Given the description of an element on the screen output the (x, y) to click on. 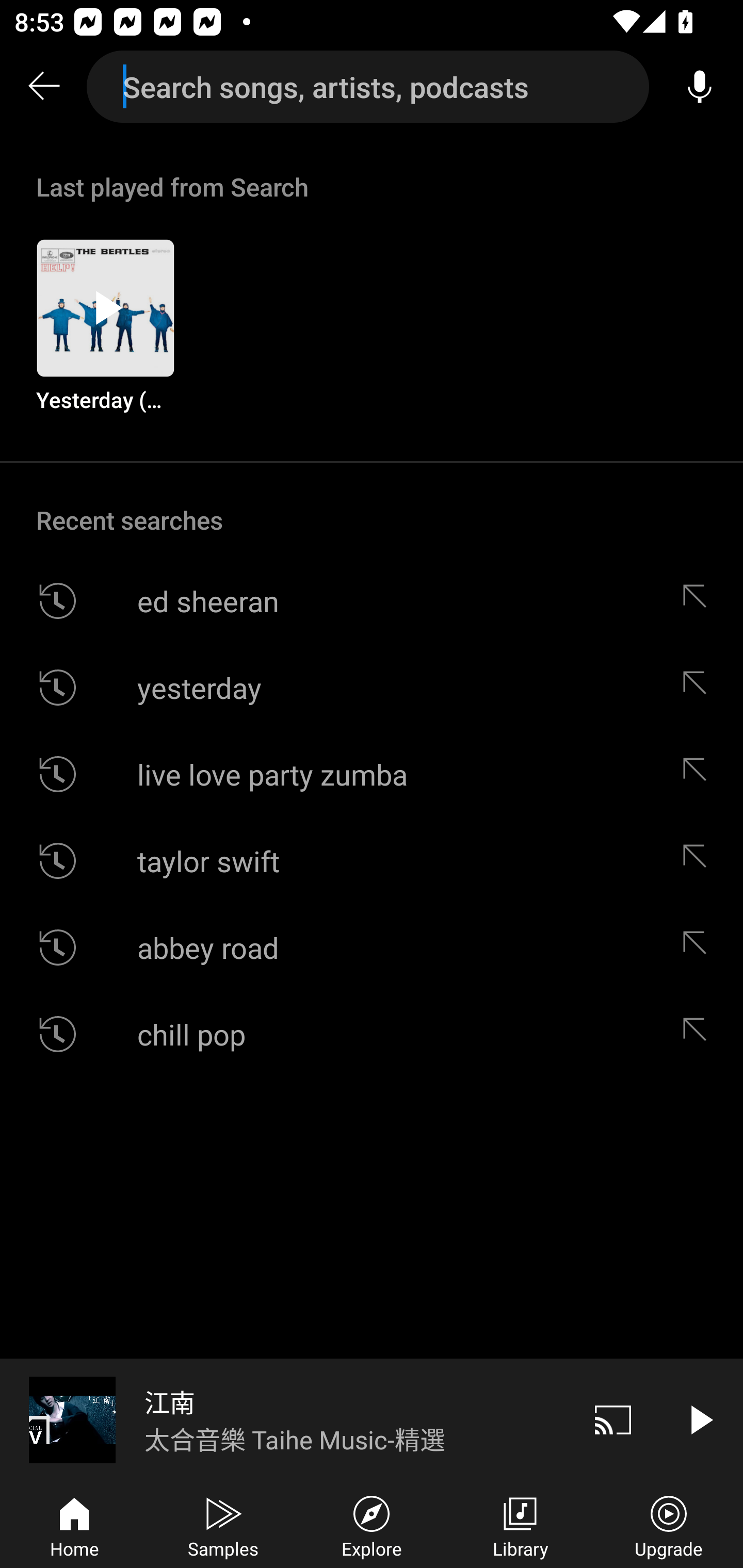
Search back (43, 86)
Search songs, artists, podcasts (367, 86)
Voice search (699, 86)
ed sheeran Edit suggestion ed sheeran (371, 601)
Edit suggestion ed sheeran (699, 601)
yesterday Edit suggestion yesterday (371, 687)
Edit suggestion yesterday (699, 687)
Edit suggestion live love party zumba (699, 773)
taylor swift Edit suggestion taylor swift (371, 860)
Edit suggestion taylor swift (699, 860)
abbey road Edit suggestion abbey road (371, 947)
Edit suggestion abbey road (699, 947)
chill pop Edit suggestion chill pop (371, 1033)
Edit suggestion chill pop (699, 1033)
江南 太合音樂 Taihe Music-精選 (284, 1419)
Cast. Disconnected (612, 1419)
Play video (699, 1419)
Home (74, 1524)
Samples (222, 1524)
Explore (371, 1524)
Library (519, 1524)
Upgrade (668, 1524)
